Given the description of an element on the screen output the (x, y) to click on. 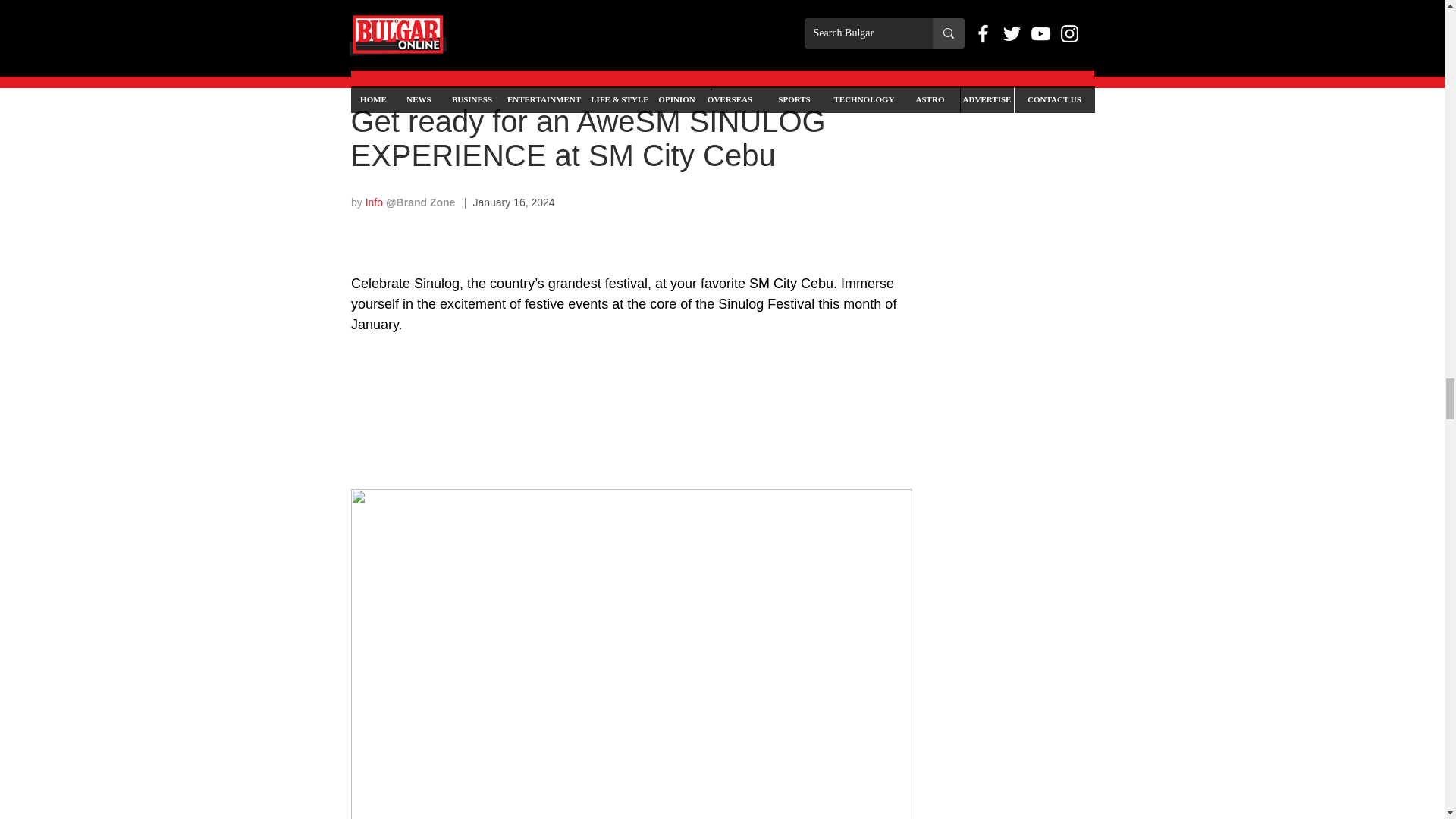
BULGAR (372, 74)
Get ready for an AweSM SINULOG EXPERIENCE at SM City Cebu (587, 137)
Jan 16 (423, 74)
